Given the description of an element on the screen output the (x, y) to click on. 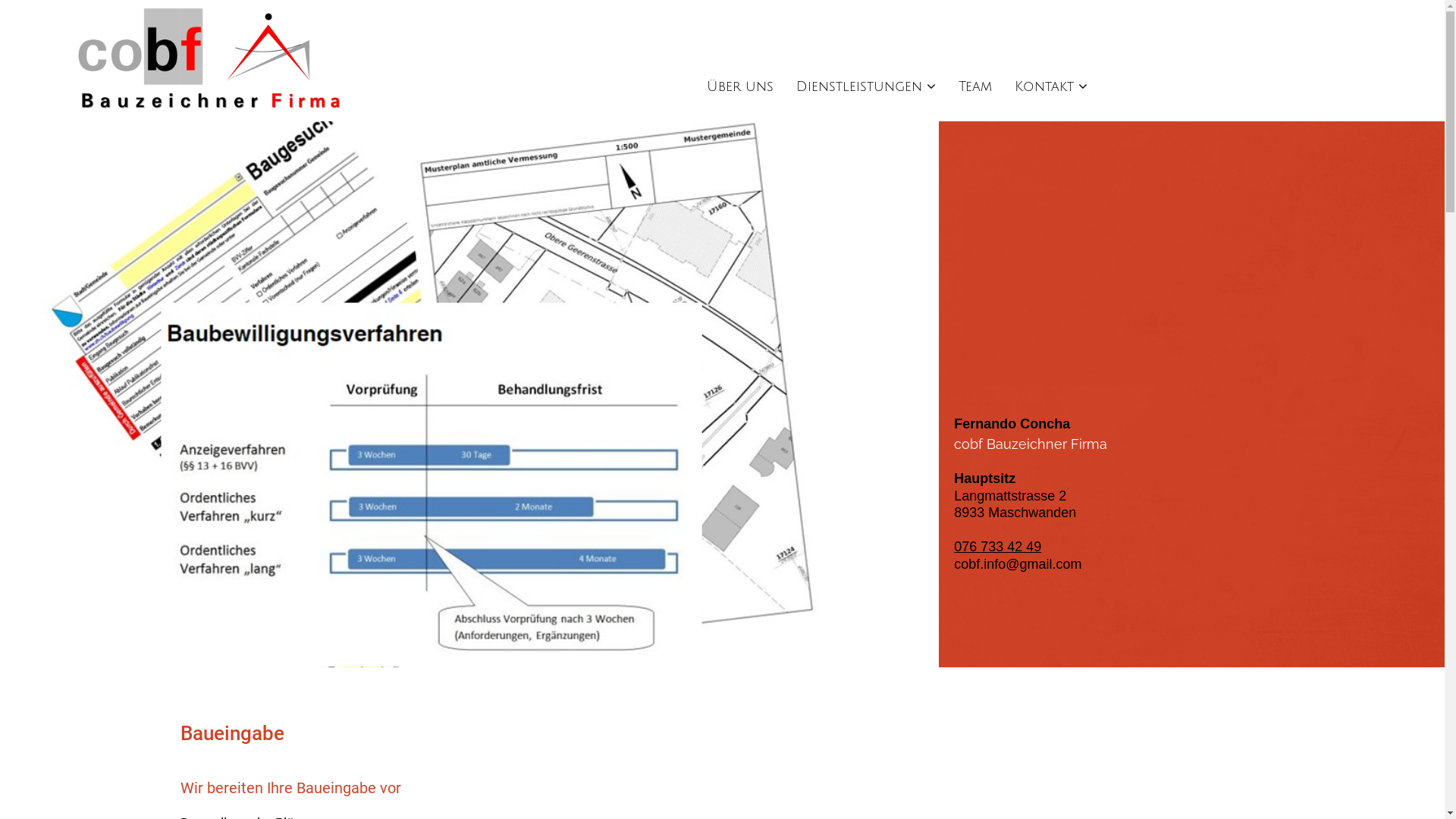
Team Element type: text (974, 86)
Dienstleistungen Element type: text (865, 86)
076 733 42 49 Element type: text (997, 546)
Kontakt Element type: text (1050, 86)
